Given the description of an element on the screen output the (x, y) to click on. 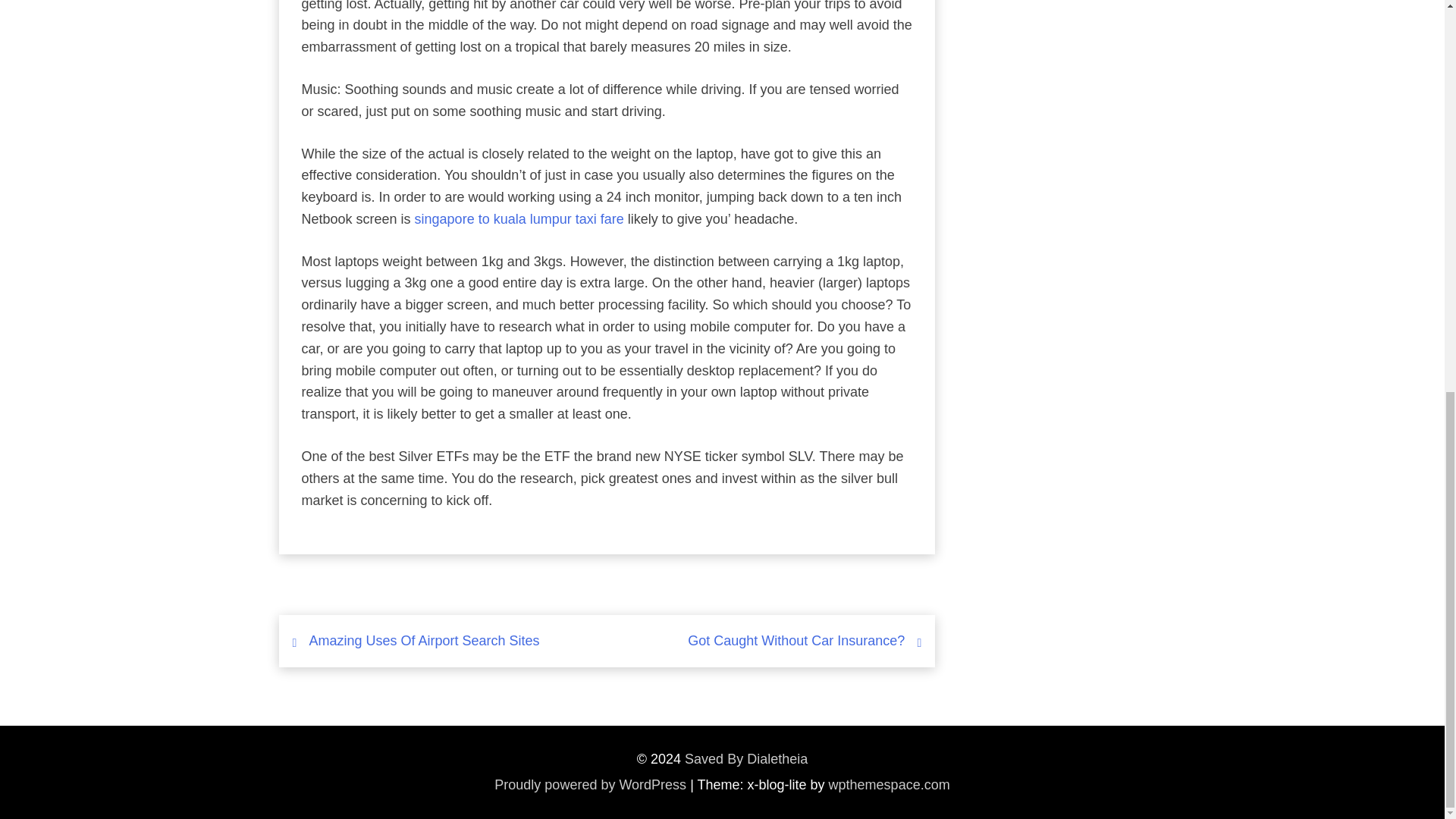
Amazing Uses Of Airport Search Sites (424, 640)
Got Caught Without Car Insurance? (795, 640)
wpthemespace.com (889, 784)
Proudly powered by WordPress (590, 784)
Saved By Dialetheia (746, 759)
singapore to kuala lumpur taxi fare (519, 218)
